Given the description of an element on the screen output the (x, y) to click on. 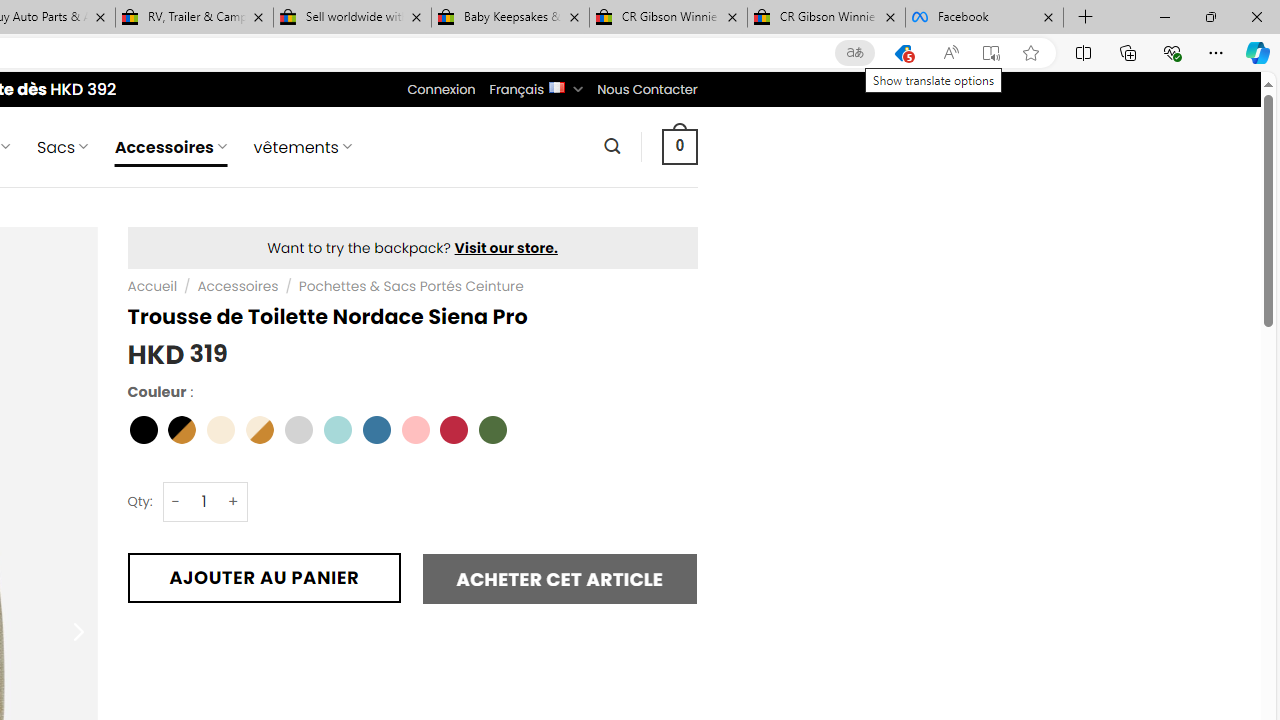
Show translate options (854, 53)
ACHETER CET ARTICLE (559, 578)
You have the best price! (902, 53)
RV, Trailer & Camper Steps & Ladders for sale | eBay (194, 17)
Recherche (612, 146)
Facebook (984, 17)
Nous Contacter (646, 89)
